Given the description of an element on the screen output the (x, y) to click on. 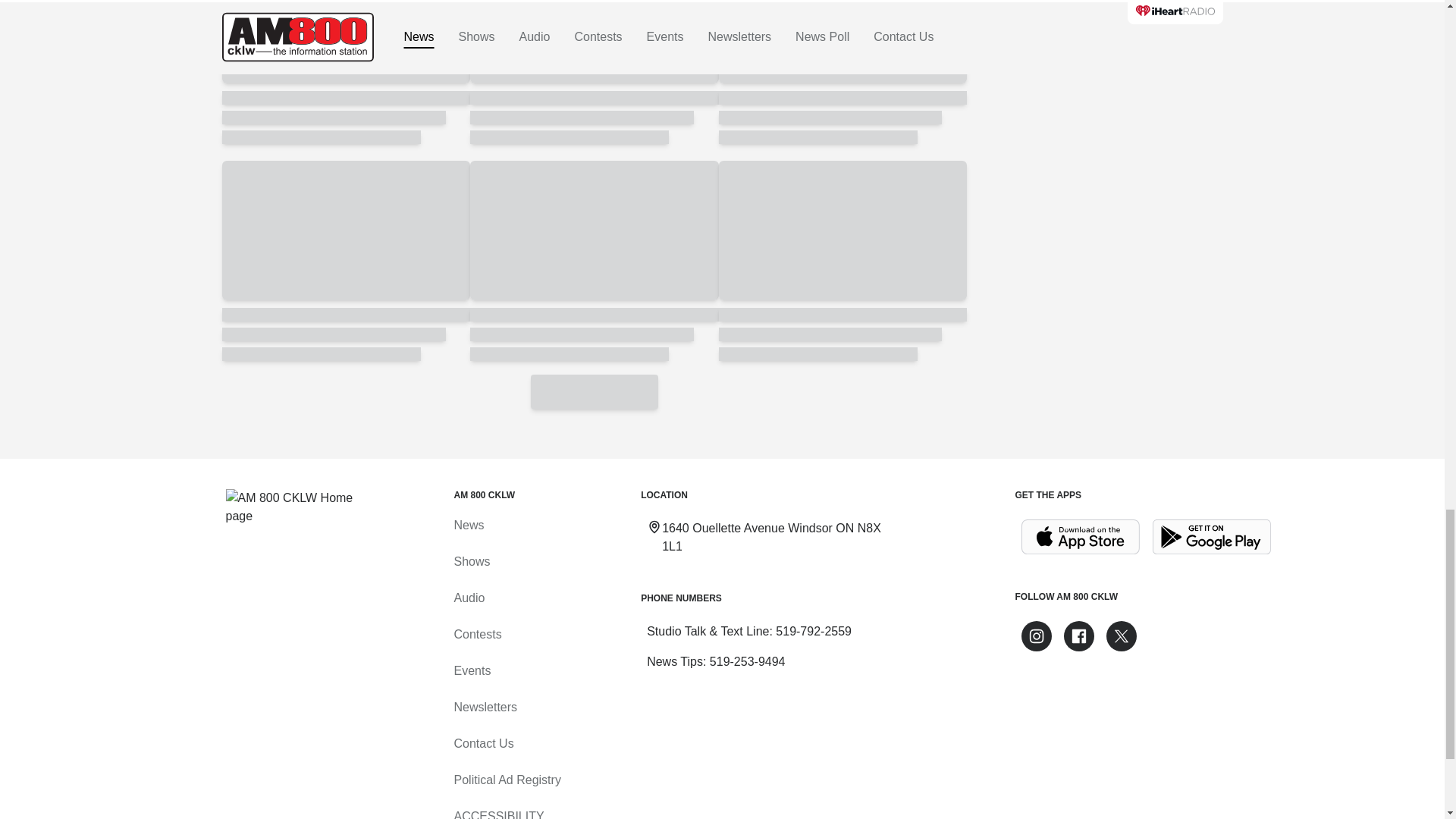
Political Ad Registry (506, 779)
ACCESSIBILITY (497, 814)
Events (471, 670)
Get it on Google Play (1212, 537)
519-792-2559 (813, 631)
Contact Us (482, 743)
Newsletters (484, 707)
Download on the App Store (1080, 537)
Shows (470, 561)
Audio (468, 597)
Contests (476, 634)
519-253-9494 (748, 661)
News (467, 524)
Accessibility (497, 814)
